Given the description of an element on the screen output the (x, y) to click on. 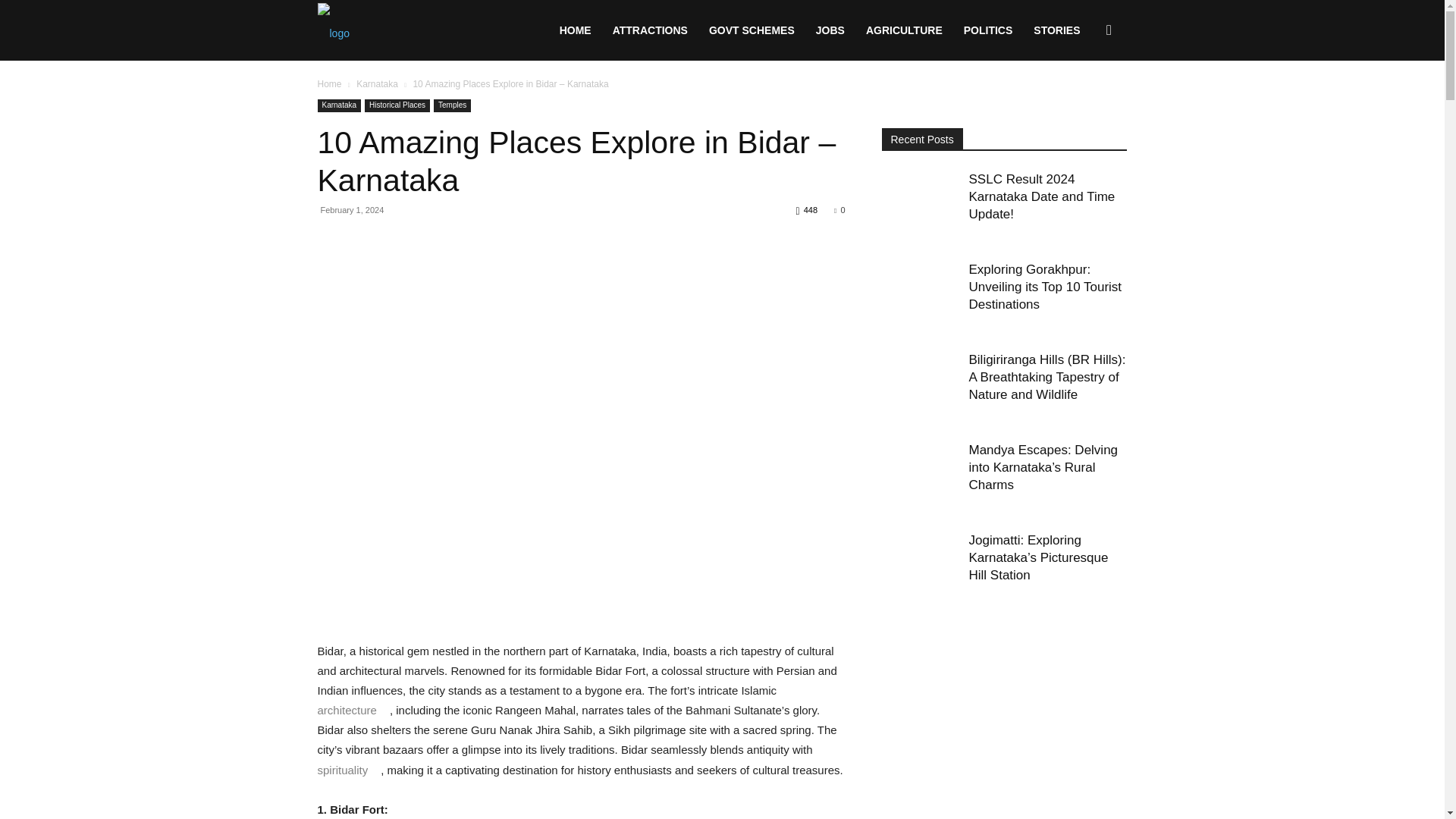
ATTRACTIONS (650, 30)
Search (1085, 102)
View all posts in Karnataka (376, 83)
